Given the description of an element on the screen output the (x, y) to click on. 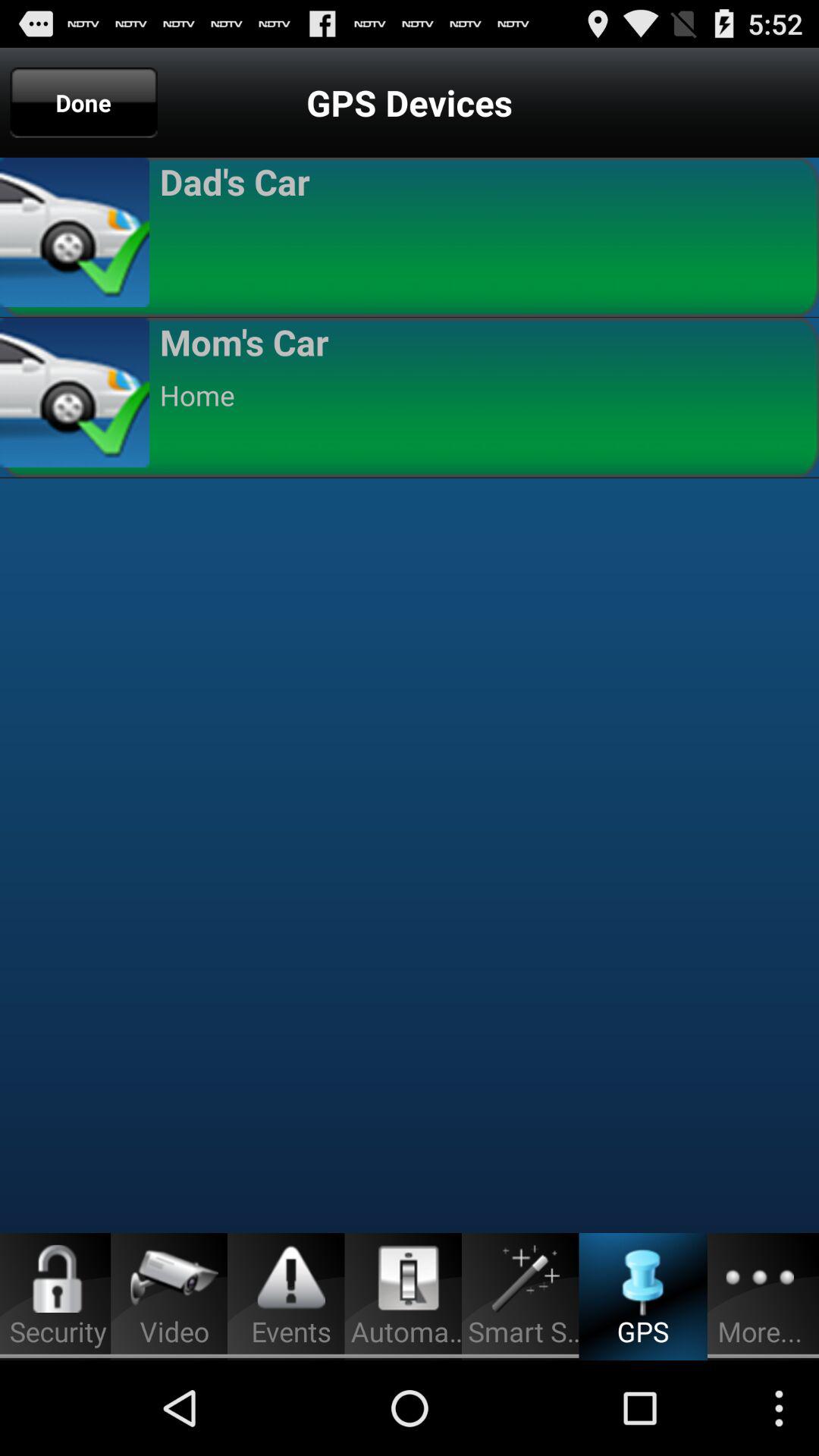
click done (83, 102)
